Given the description of an element on the screen output the (x, y) to click on. 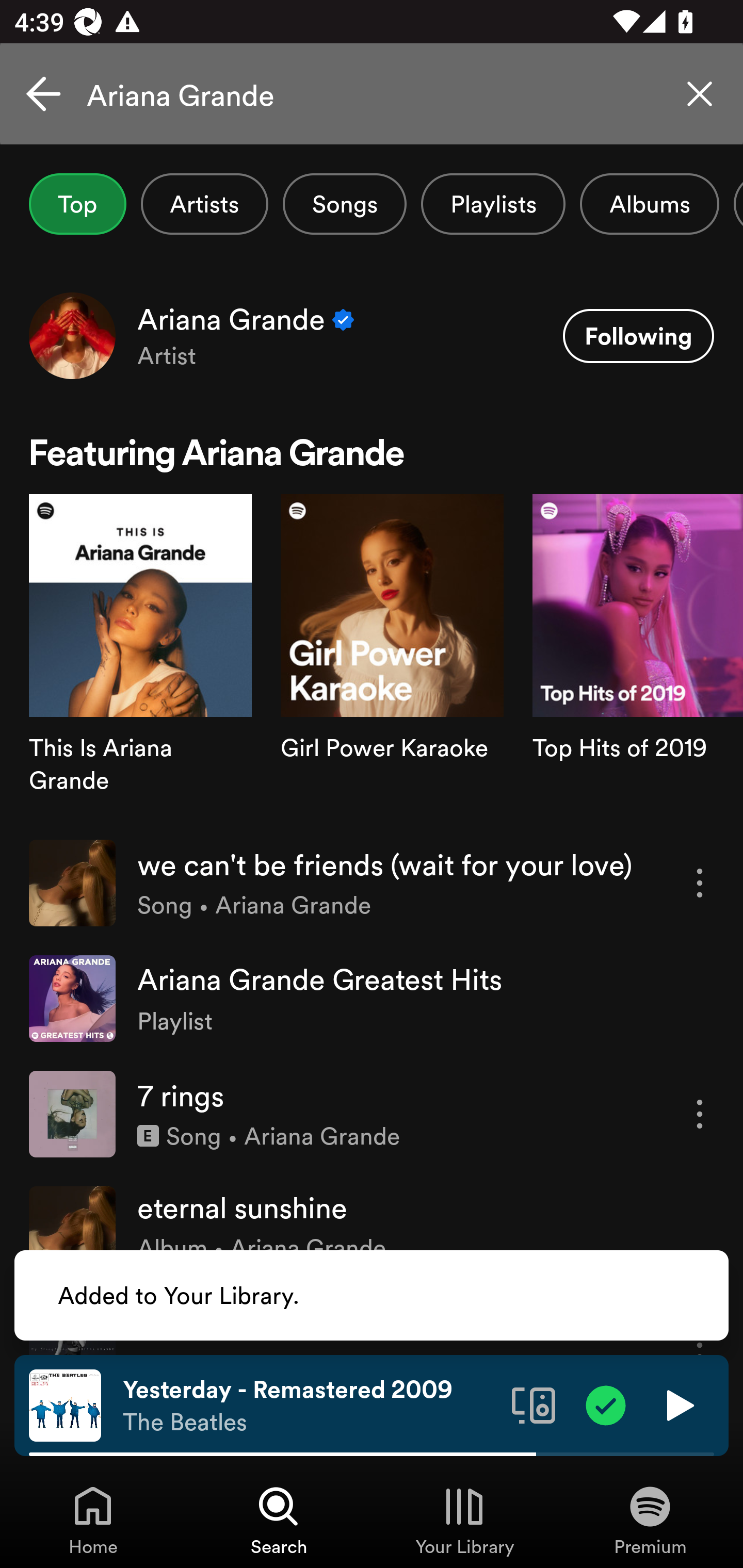
Ariana Grande (371, 93)
Cancel (43, 93)
Clear search query (699, 93)
Top (77, 203)
Artists (204, 203)
Songs (344, 203)
Playlists (493, 203)
Albums (649, 203)
Ariana Grande Verified Artist Following Unfollow (371, 335)
Following Unfollow (638, 335)
Search card image This Is Ariana Grande (139, 658)
Search card image Girl Power Karaoke (391, 658)
Search card image Top Hits of 2019 (637, 658)
Ariana Grande Greatest Hits Playlist (371, 998)
More options for song 7 rings (699, 1113)
eternal sunshine Album • Ariana Grande (371, 1229)
Yesterday - Remastered 2009 The Beatles (309, 1405)
The cover art of the currently playing track (64, 1404)
Connect to a device. Opens the devices menu (533, 1404)
Item added (605, 1404)
Play (677, 1404)
Home, Tab 1 of 4 Home Home (92, 1519)
Search, Tab 2 of 4 Search Search (278, 1519)
Your Library, Tab 3 of 4 Your Library Your Library (464, 1519)
Premium, Tab 4 of 4 Premium Premium (650, 1519)
